Given the description of an element on the screen output the (x, y) to click on. 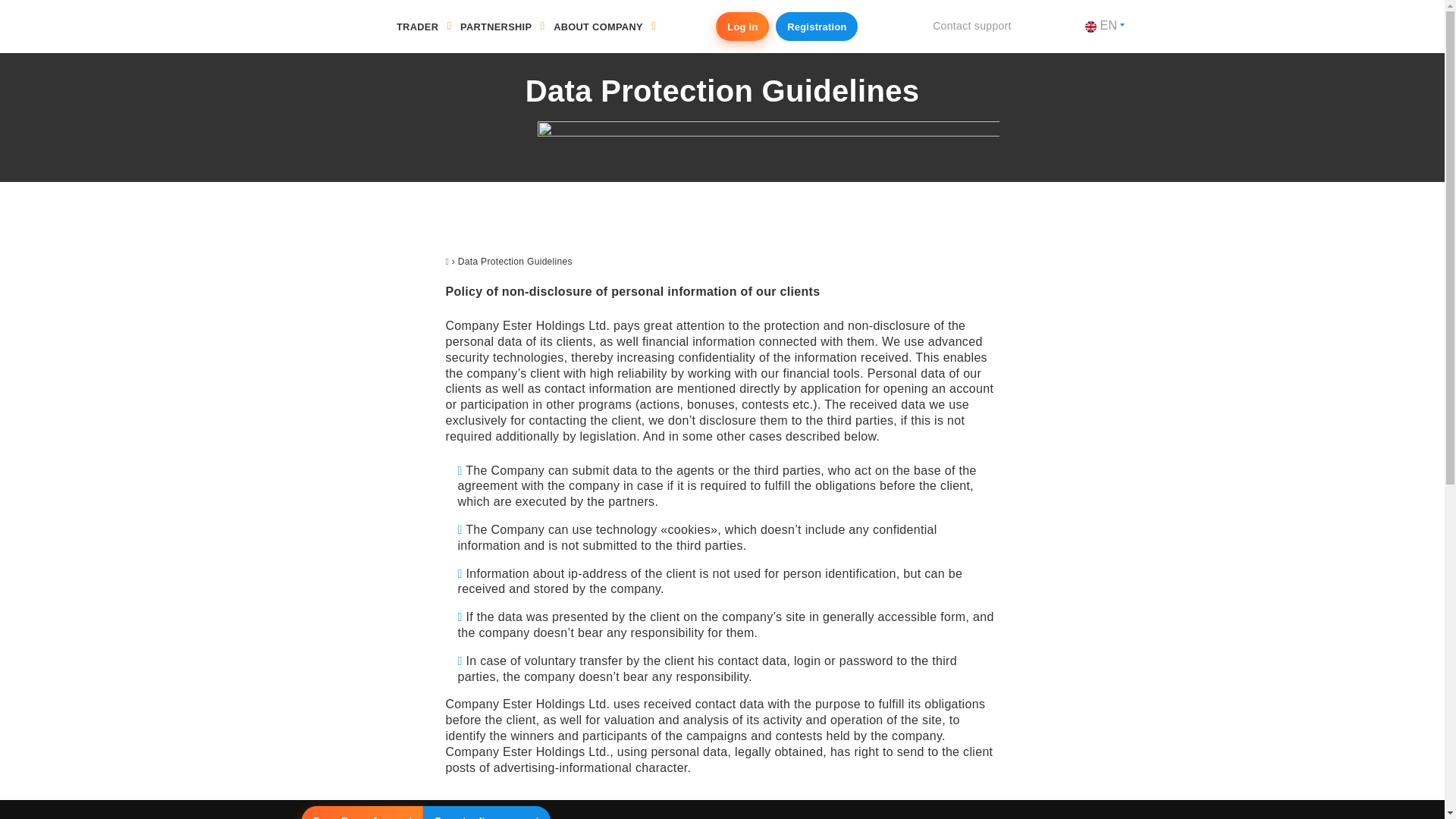
Contact support (971, 26)
TRADER (418, 26)
Registration (816, 26)
Open Demo Account (362, 812)
Log in (742, 26)
PARTNERSHIP (496, 26)
Open trading account (486, 812)
EN (1104, 26)
ABOUT COMPANY (598, 26)
